Given the description of an element on the screen output the (x, y) to click on. 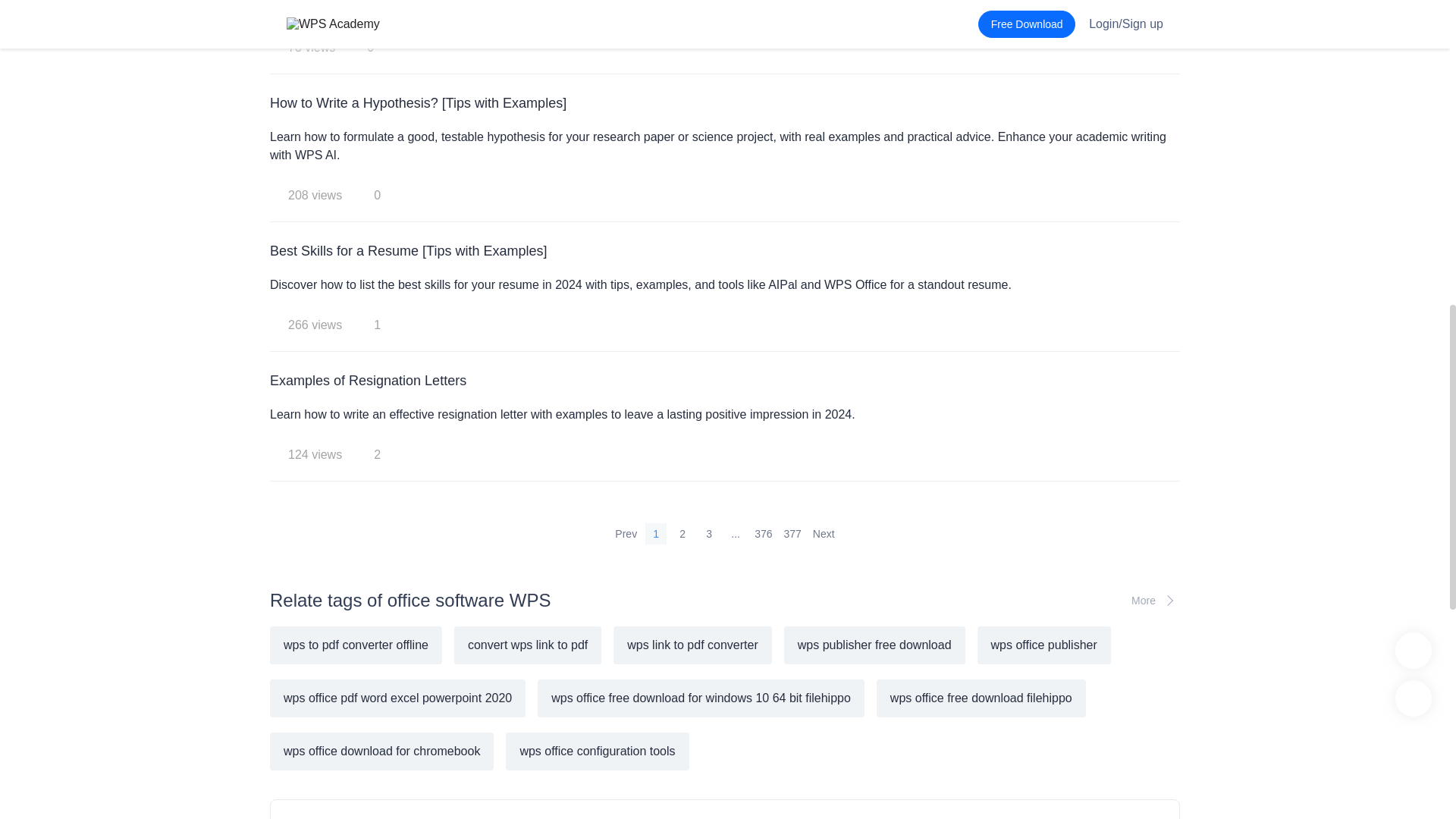
2 (682, 533)
Examples of Resignation Letters (724, 381)
1 (655, 533)
3 (708, 533)
Prev (625, 533)
